Given the description of an element on the screen output the (x, y) to click on. 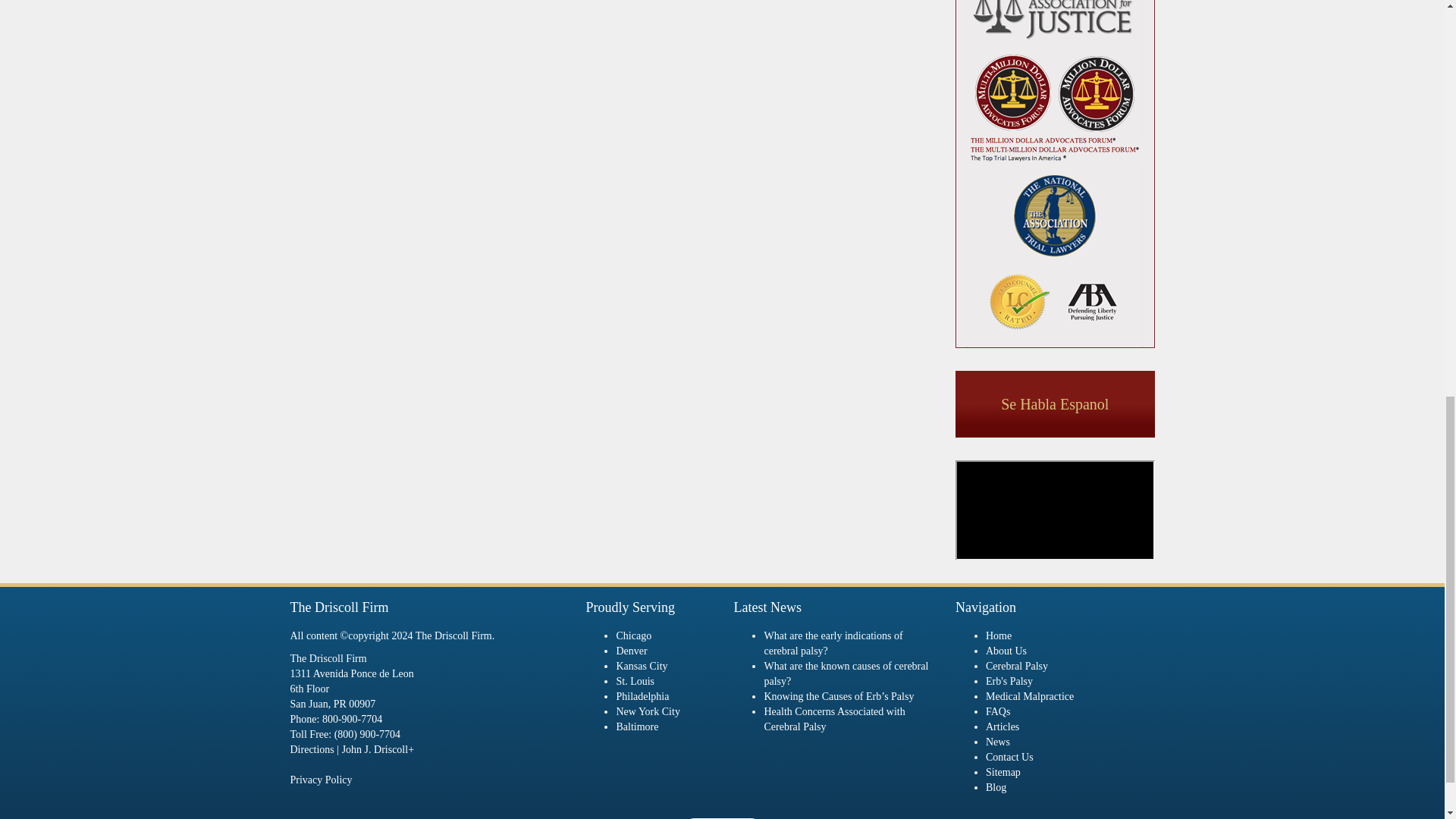
St. Louis (634, 681)
Privacy Policy (320, 779)
Denver (630, 650)
Chicago (632, 635)
Directions (311, 749)
Look What are the early indications of cerebral palsy? (832, 642)
Se Habla Espanol (1054, 404)
Kansas City (640, 665)
Look Health Concerns Associated with Cerebral Palsy (833, 718)
Look What are the known causes of cerebral palsy? (845, 673)
